Given the description of an element on the screen output the (x, y) to click on. 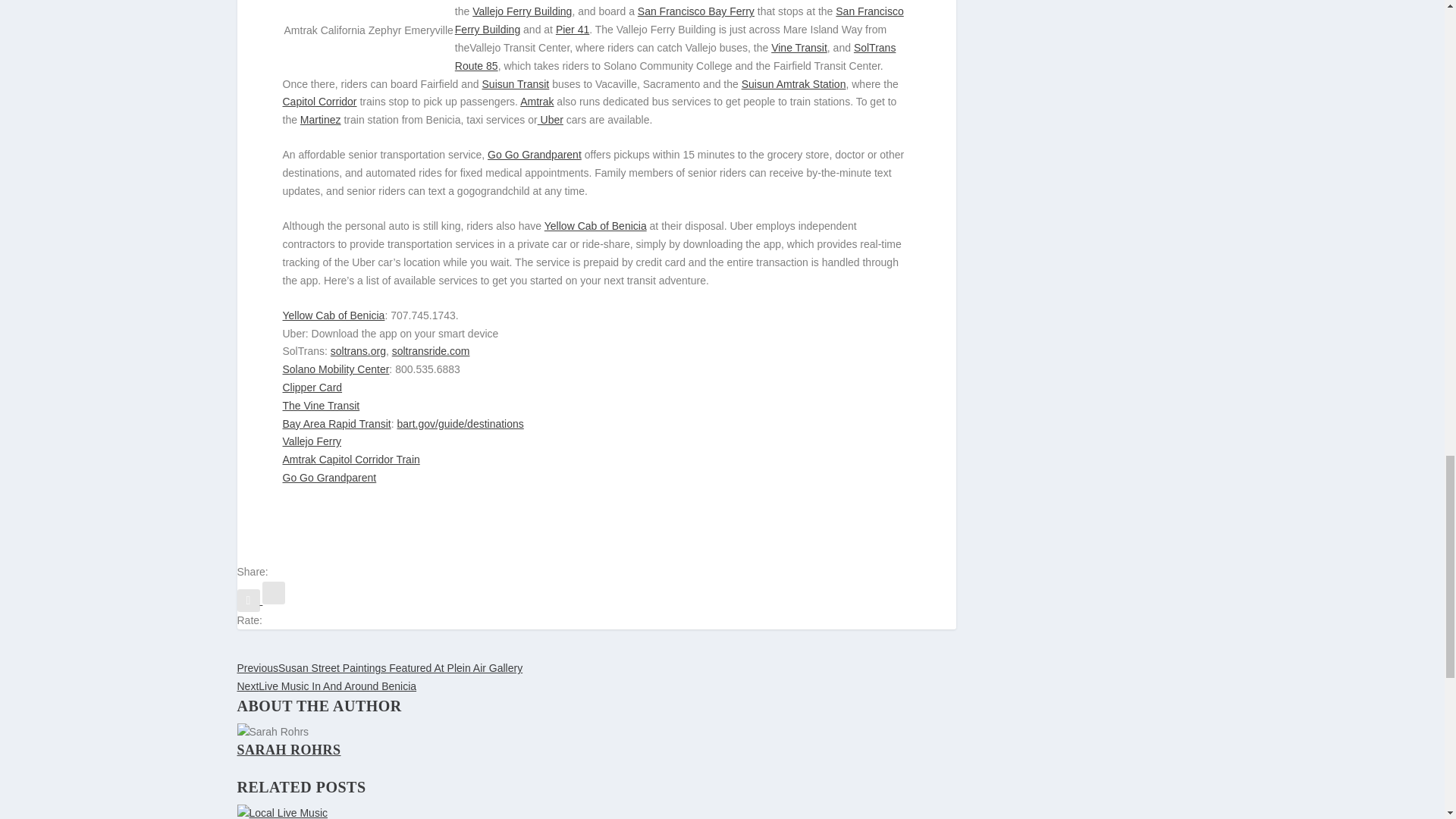
View all posts by Sarah Rohrs (287, 749)
Local Live Music (595, 811)
